Given the description of an element on the screen output the (x, y) to click on. 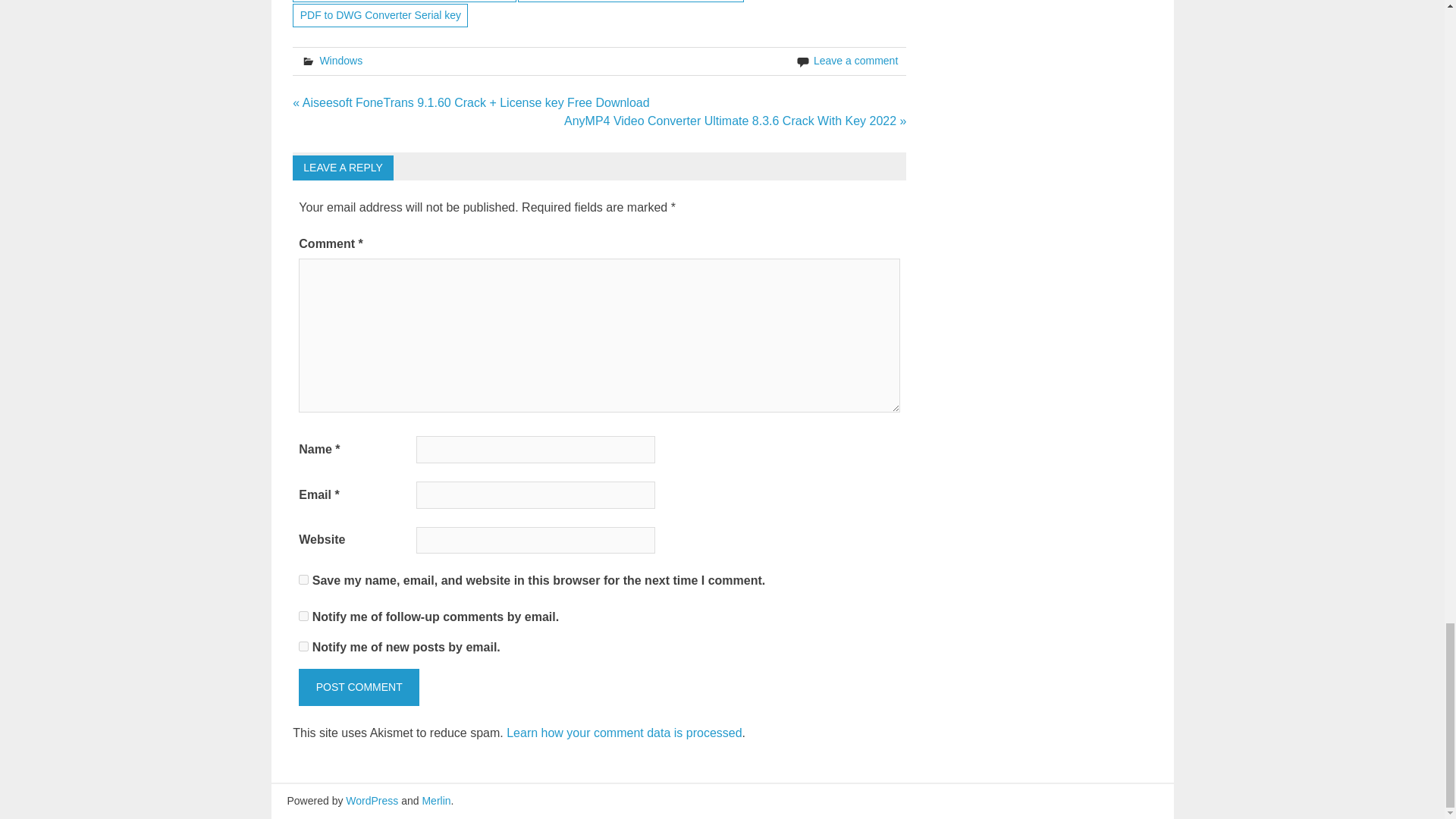
subscribe (303, 615)
Leave a comment (855, 60)
subscribe (303, 646)
Post Comment (358, 687)
Merlin WordPress Theme (435, 800)
yes (303, 579)
Windows (340, 60)
WordPress (371, 800)
PDF to DWG Converter Serial key (379, 15)
